Given the description of an element on the screen output the (x, y) to click on. 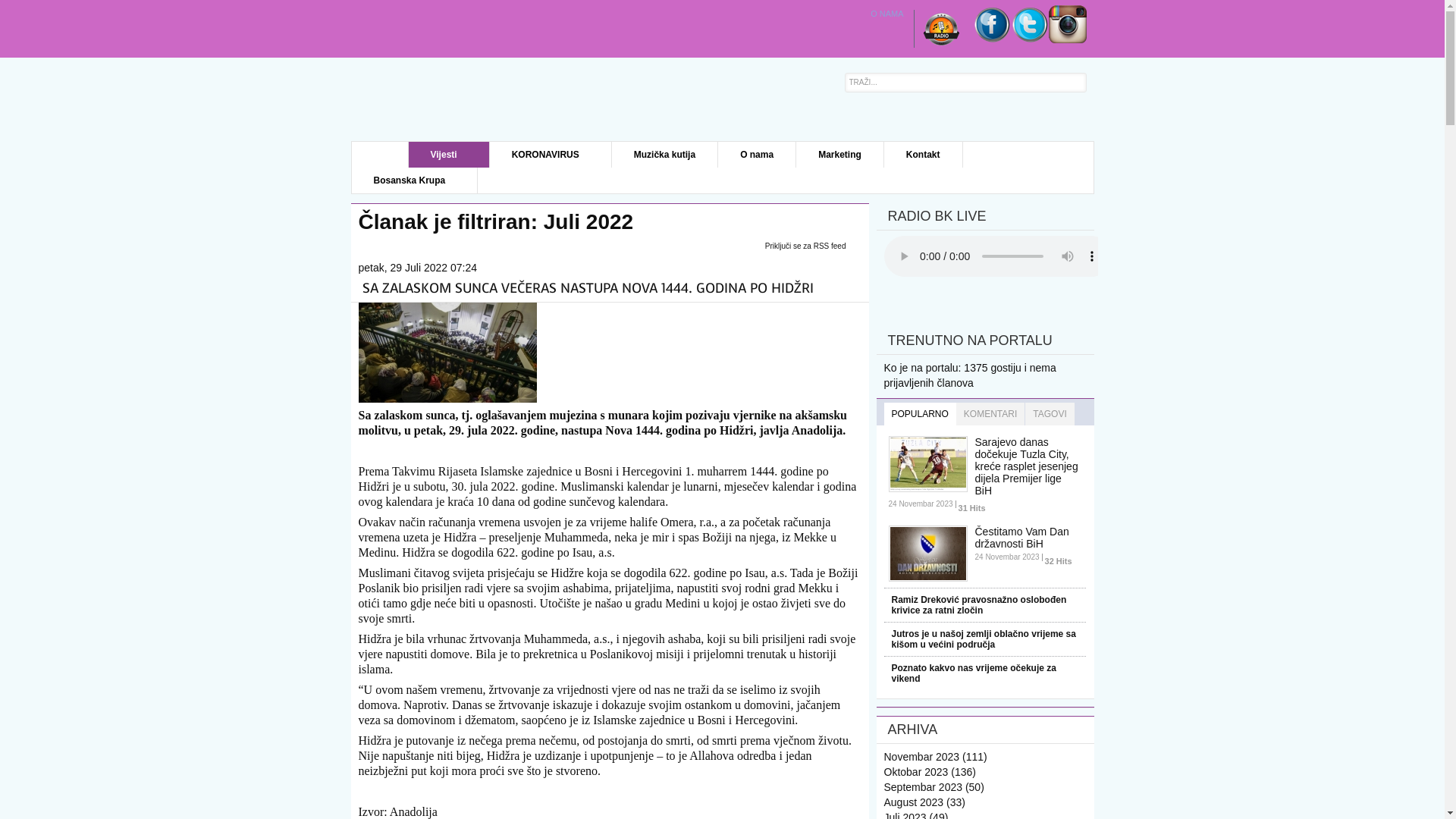
August 2023 (33) Element type: text (924, 802)
O NAMA Element type: text (887, 13)
Twitter Element type: hover (1029, 39)
Naslovna Element type: text (379, 154)
Oktobar 2023 (136) Element type: text (929, 771)
JP  Element type: hover (441, 99)
Izvor: Anadolija-Arhiv Element type: hover (446, 398)
KORONAVIRUS Element type: text (550, 154)
Bosanska Krupa Element type: text (414, 180)
Septembar 2023 (50) Element type: text (934, 787)
Marketing Element type: text (840, 154)
Kontakt Element type: text (923, 154)
Novembar 2023 (111) Element type: text (935, 756)
instagram Element type: hover (1066, 39)
O nama Element type: text (757, 154)
FB Element type: hover (991, 39)
Vijesti Element type: text (448, 154)
